Given the description of an element on the screen output the (x, y) to click on. 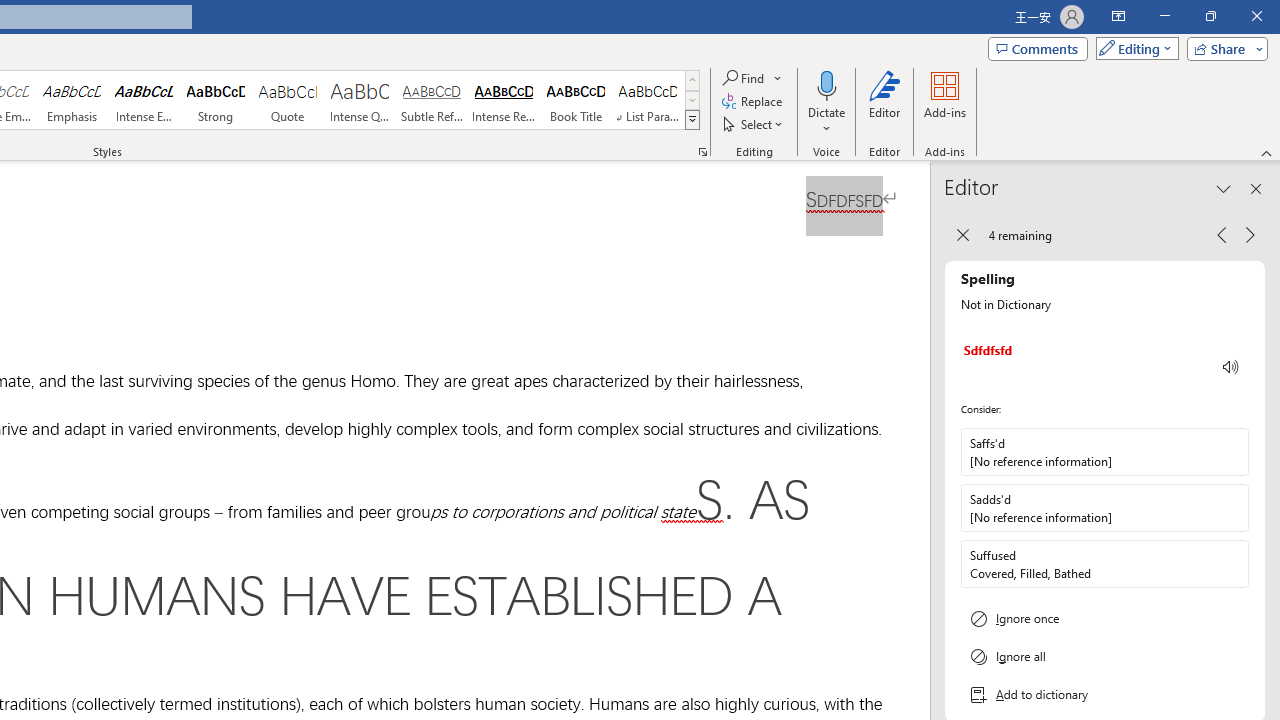
Task Pane Options (1224, 188)
Find (753, 78)
Find (744, 78)
Styles (692, 120)
Replace... (753, 101)
Next Issue, 4 remaining (1250, 234)
Intense Quote (359, 100)
Mode (1133, 47)
Row Down (692, 100)
Back (962, 234)
